Given the description of an element on the screen output the (x, y) to click on. 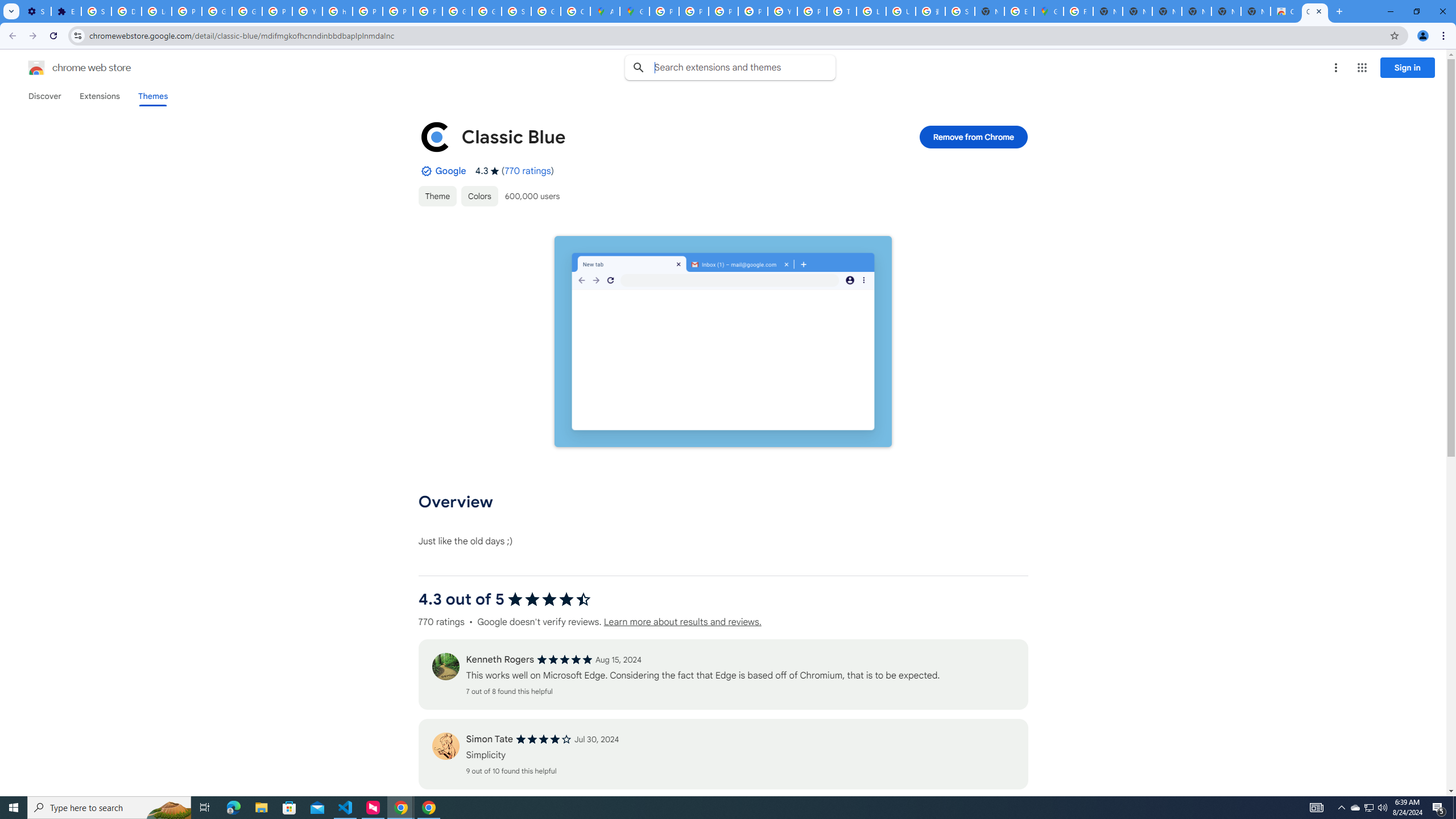
Remove from Chrome (973, 136)
Create your Google Account (575, 11)
More options menu (1335, 67)
Privacy Help Center - Policies Help (693, 11)
Explore new street-level details - Google Maps Help (1018, 11)
YouTube (782, 11)
New Tab (989, 11)
Theme (437, 195)
